Given the description of an element on the screen output the (x, y) to click on. 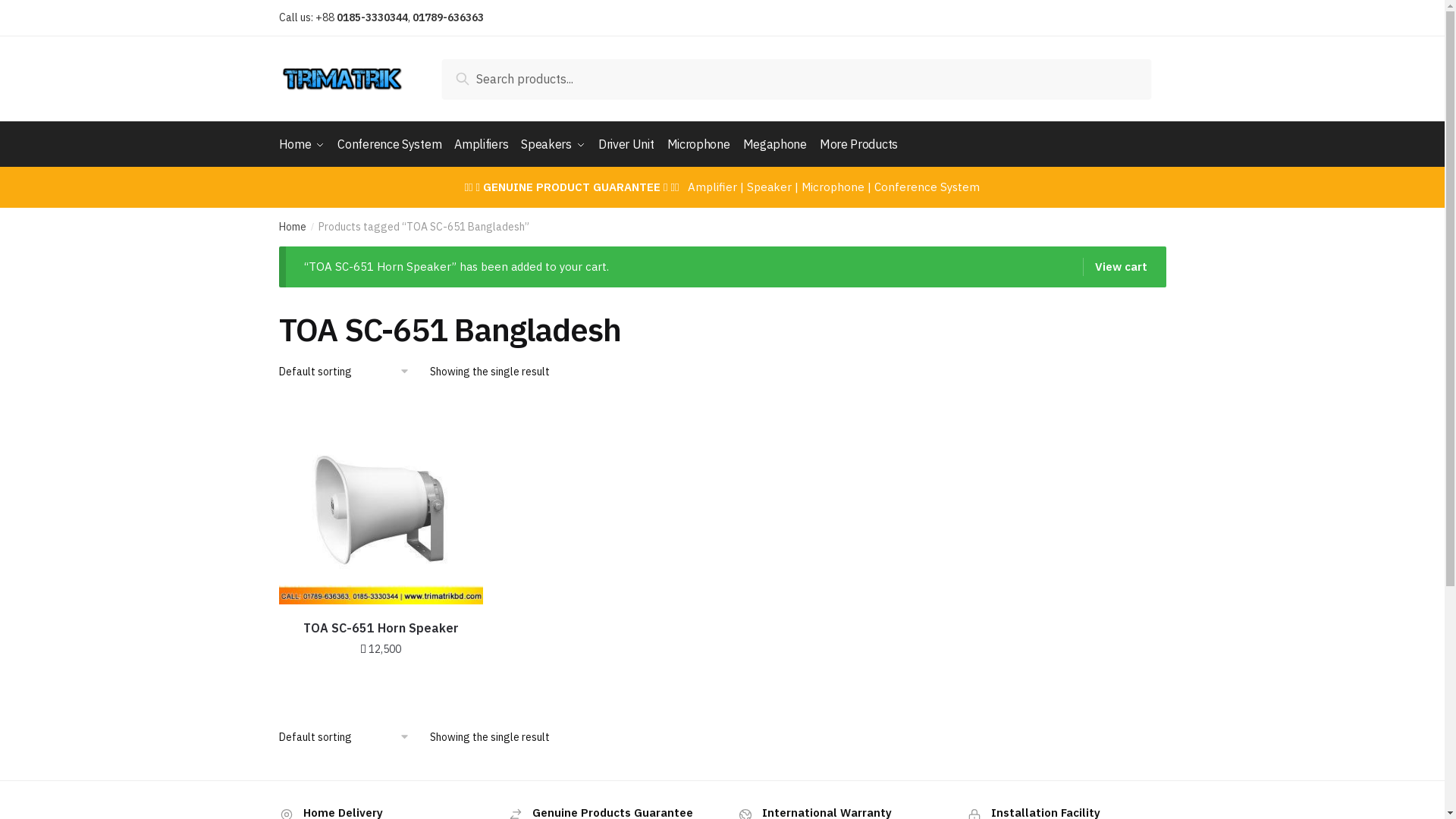
TOA SC-651 Horn Speaker Element type: text (381, 628)
Speakers Element type: text (552, 143)
Home Element type: text (292, 226)
Microphone Element type: text (698, 143)
Home Element type: text (305, 143)
Amplifiers Element type: text (481, 143)
Search Element type: text (478, 76)
Megaphone Element type: text (774, 143)
Conference System Element type: text (389, 143)
More Products Element type: text (858, 143)
Driver Unit Element type: text (626, 143)
View cart Element type: text (1114, 266)
